Given the description of an element on the screen output the (x, y) to click on. 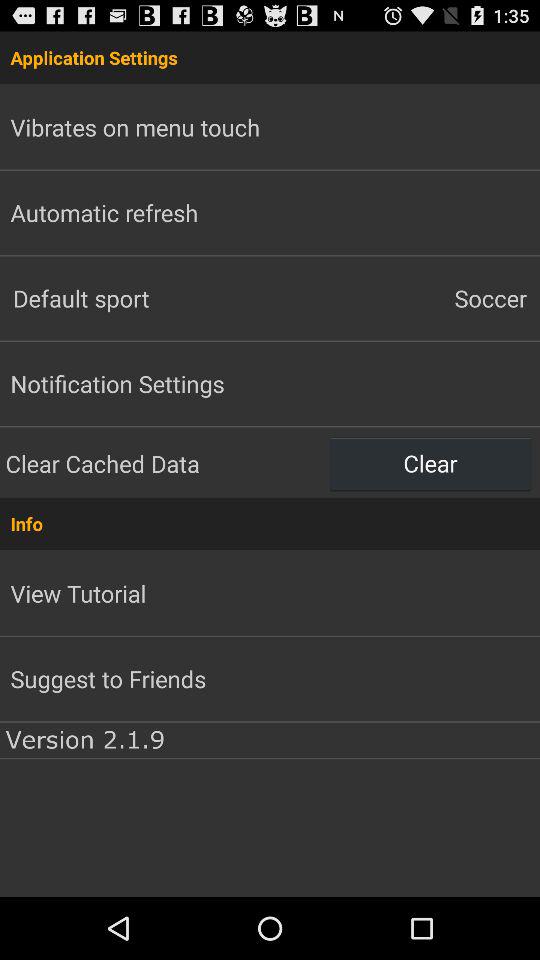
turn off item below application settings (405, 298)
